Given the description of an element on the screen output the (x, y) to click on. 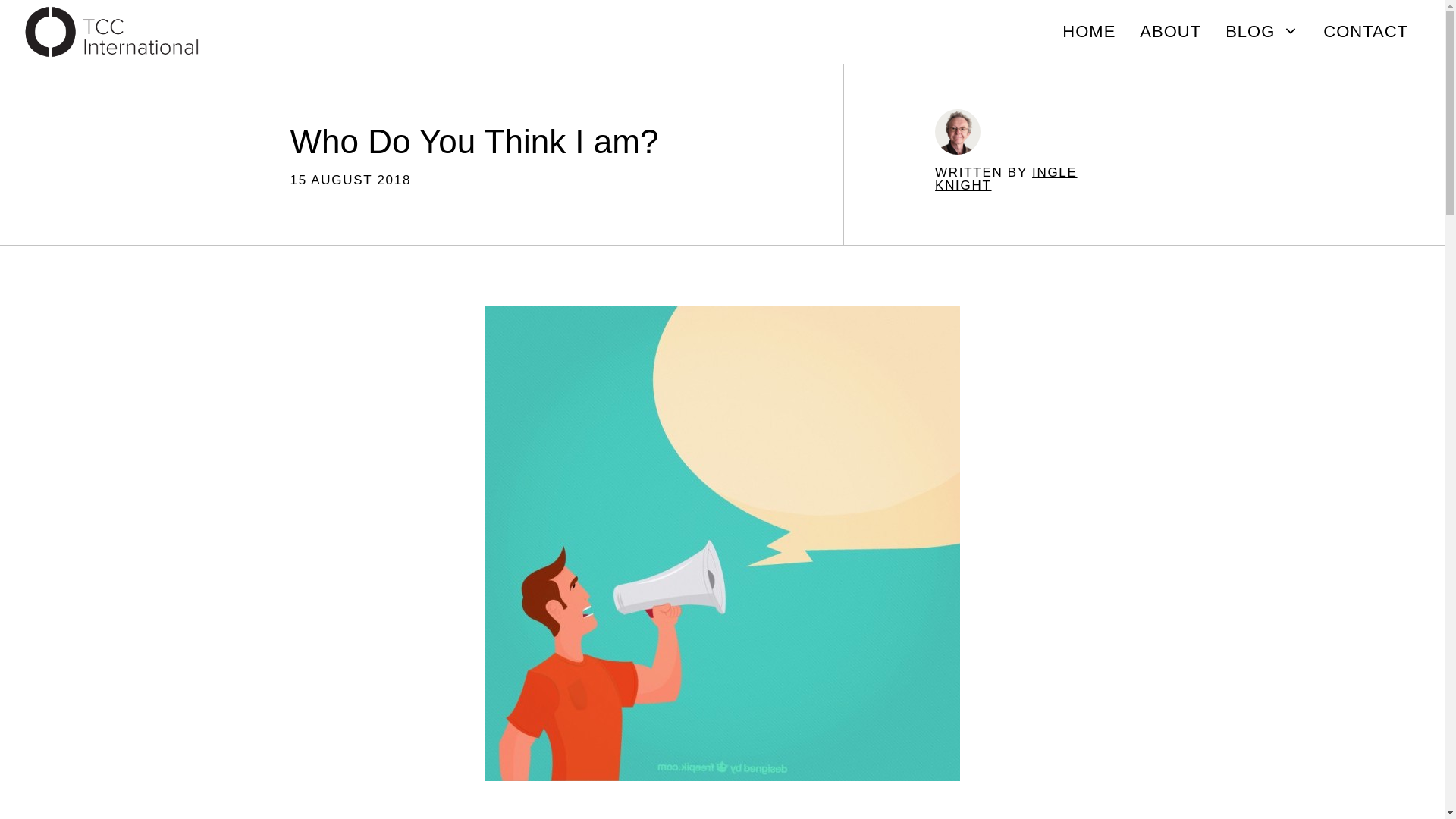
CONTACT (1366, 31)
ABOUT (1169, 31)
HOME (1087, 31)
INGLE KNIGHT (1005, 178)
BLOG (1261, 31)
